Given the description of an element on the screen output the (x, y) to click on. 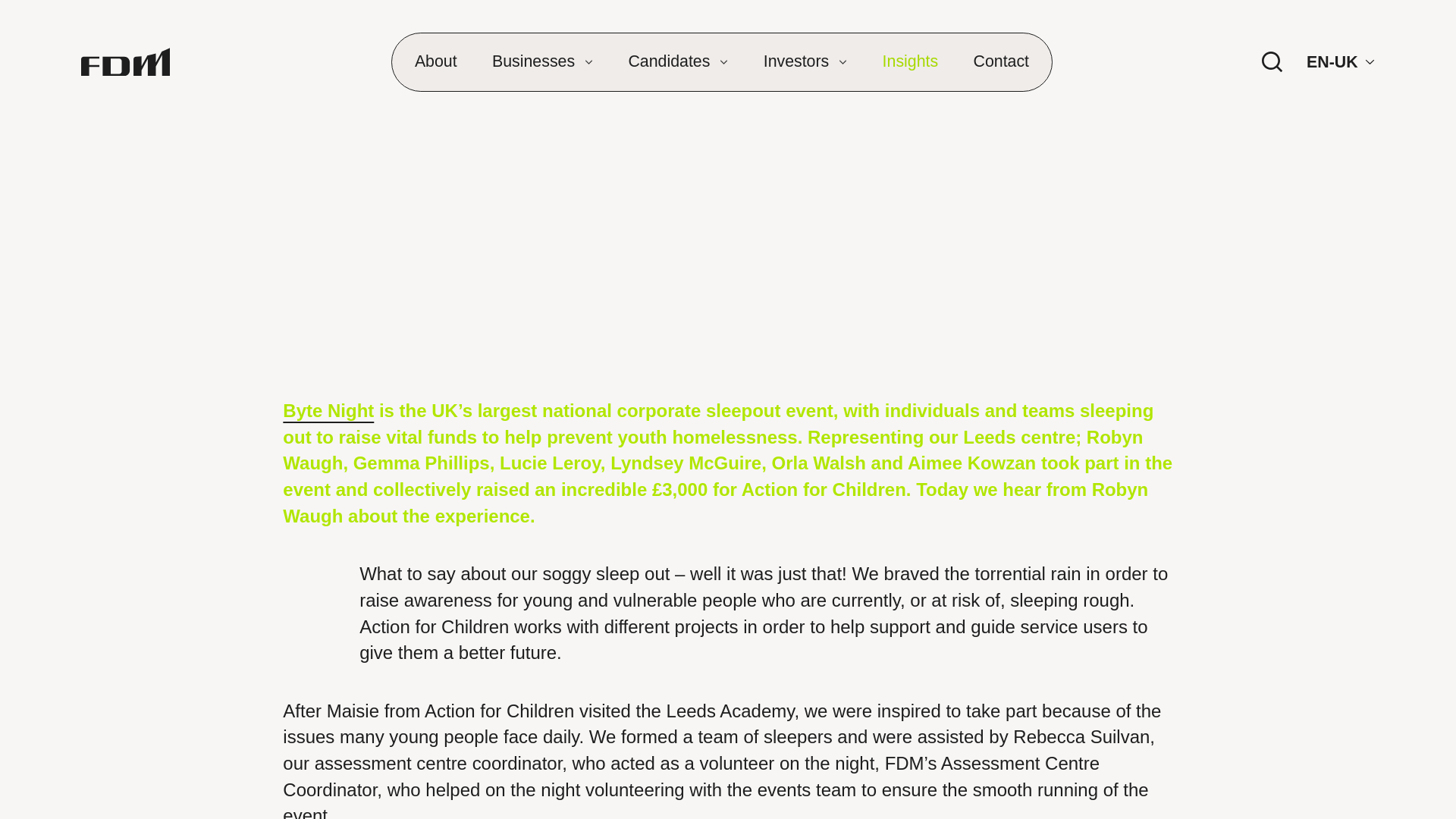
Byte Night (328, 410)
EN-UK (1340, 61)
Businesses (542, 61)
Investors (804, 61)
Contact (1001, 61)
Candidates (677, 61)
Insights (910, 61)
